Given the description of an element on the screen output the (x, y) to click on. 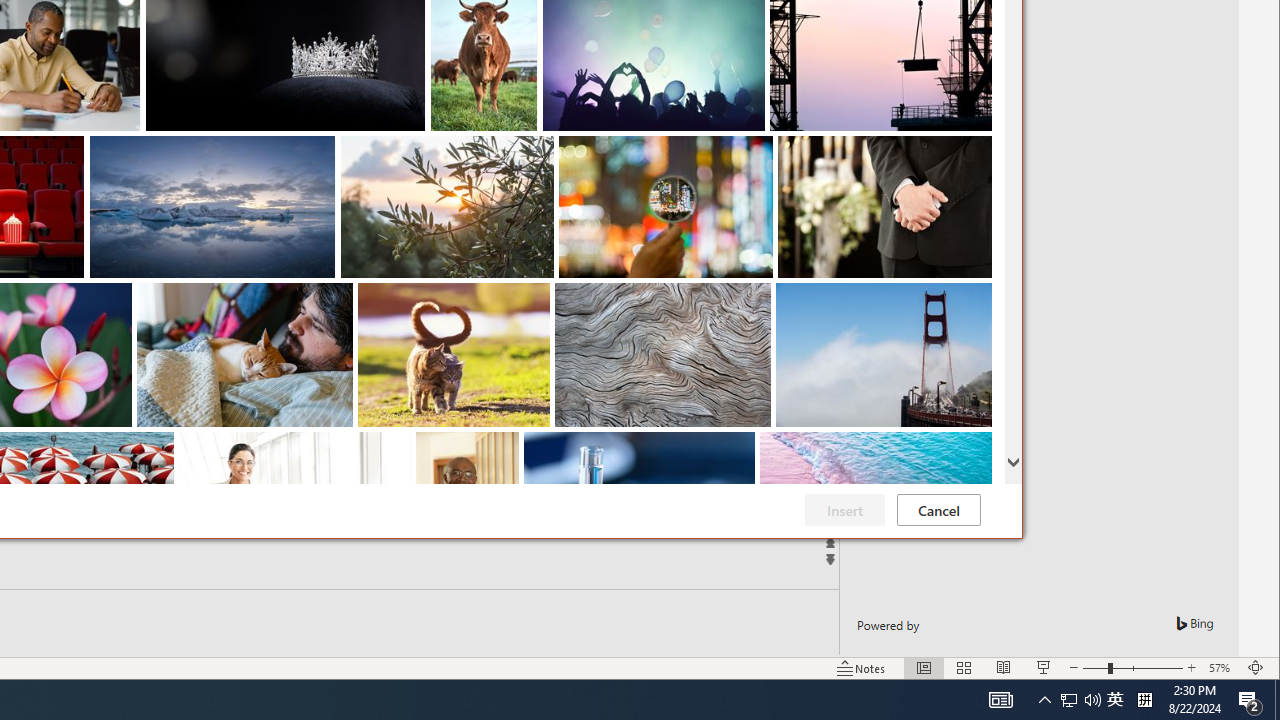
Zoom 57% (1222, 668)
